Given the description of an element on the screen output the (x, y) to click on. 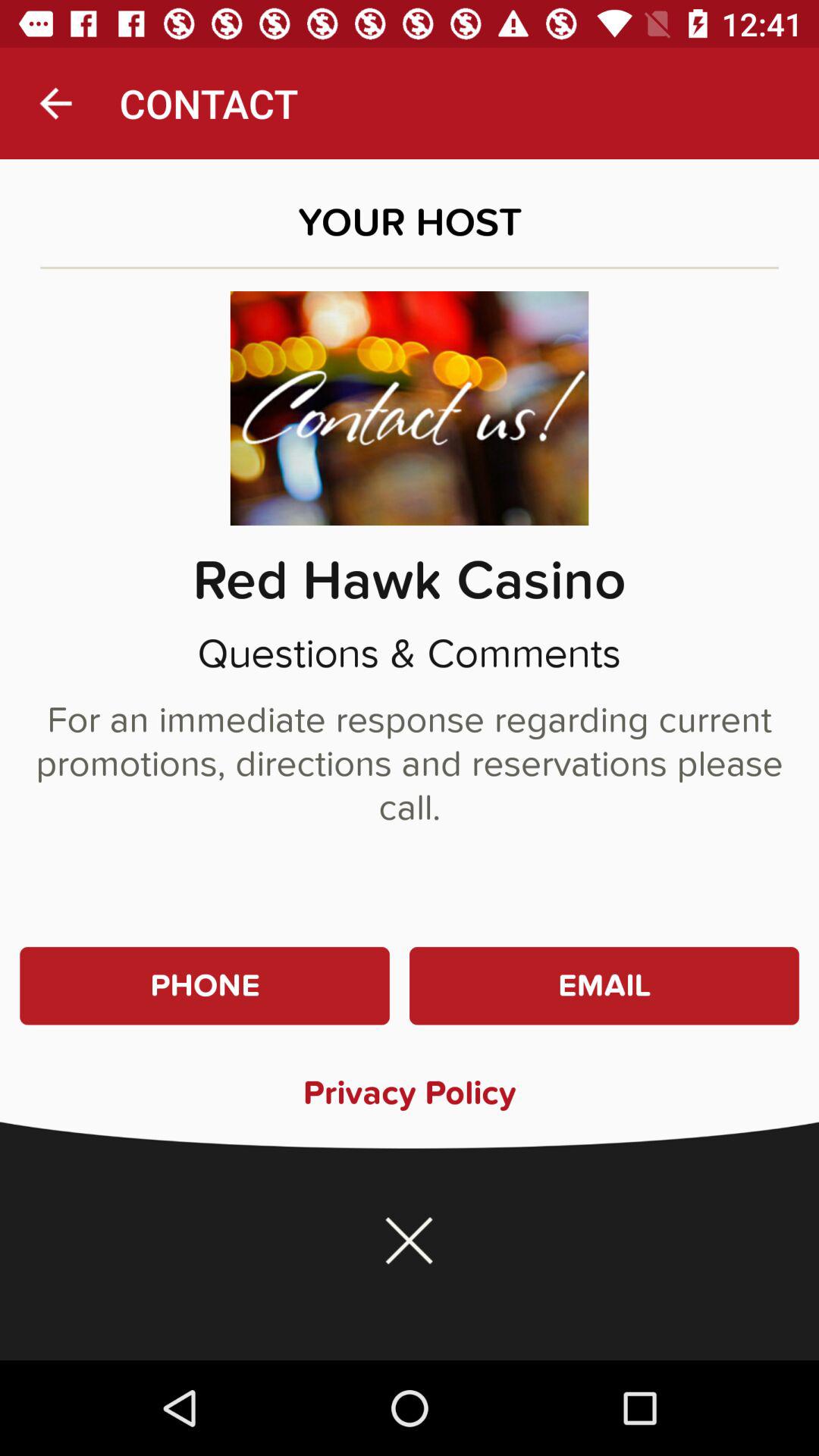
turn off the item to the left of email (204, 985)
